Given the description of an element on the screen output the (x, y) to click on. 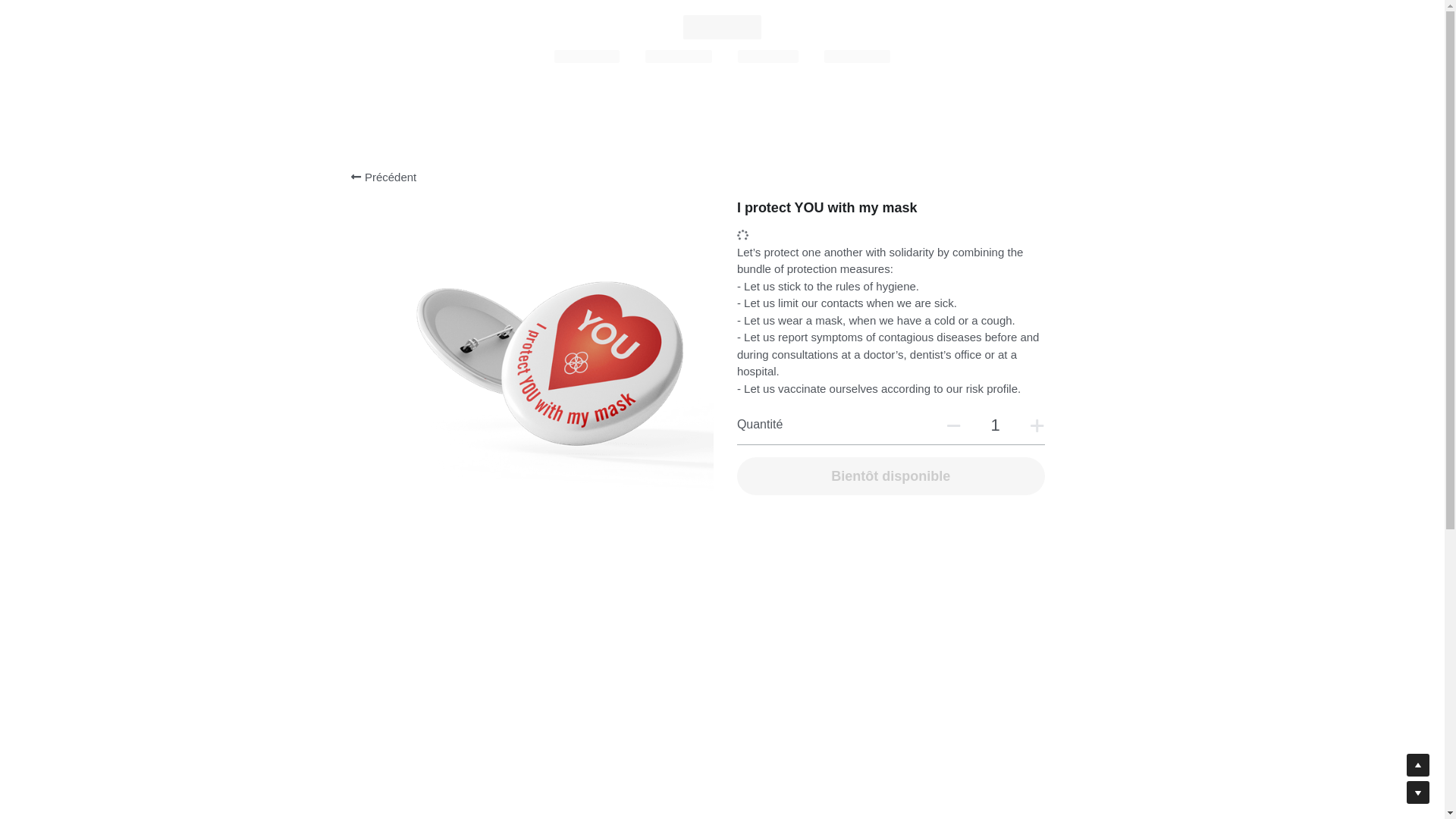
FLYER (IT) Element type: text (767, 56)
FLYER (EN) Element type: text (857, 56)
FLYER (DE) Element type: text (678, 56)
FLYER (FR) Element type: text (587, 56)
